Given the description of an element on the screen output the (x, y) to click on. 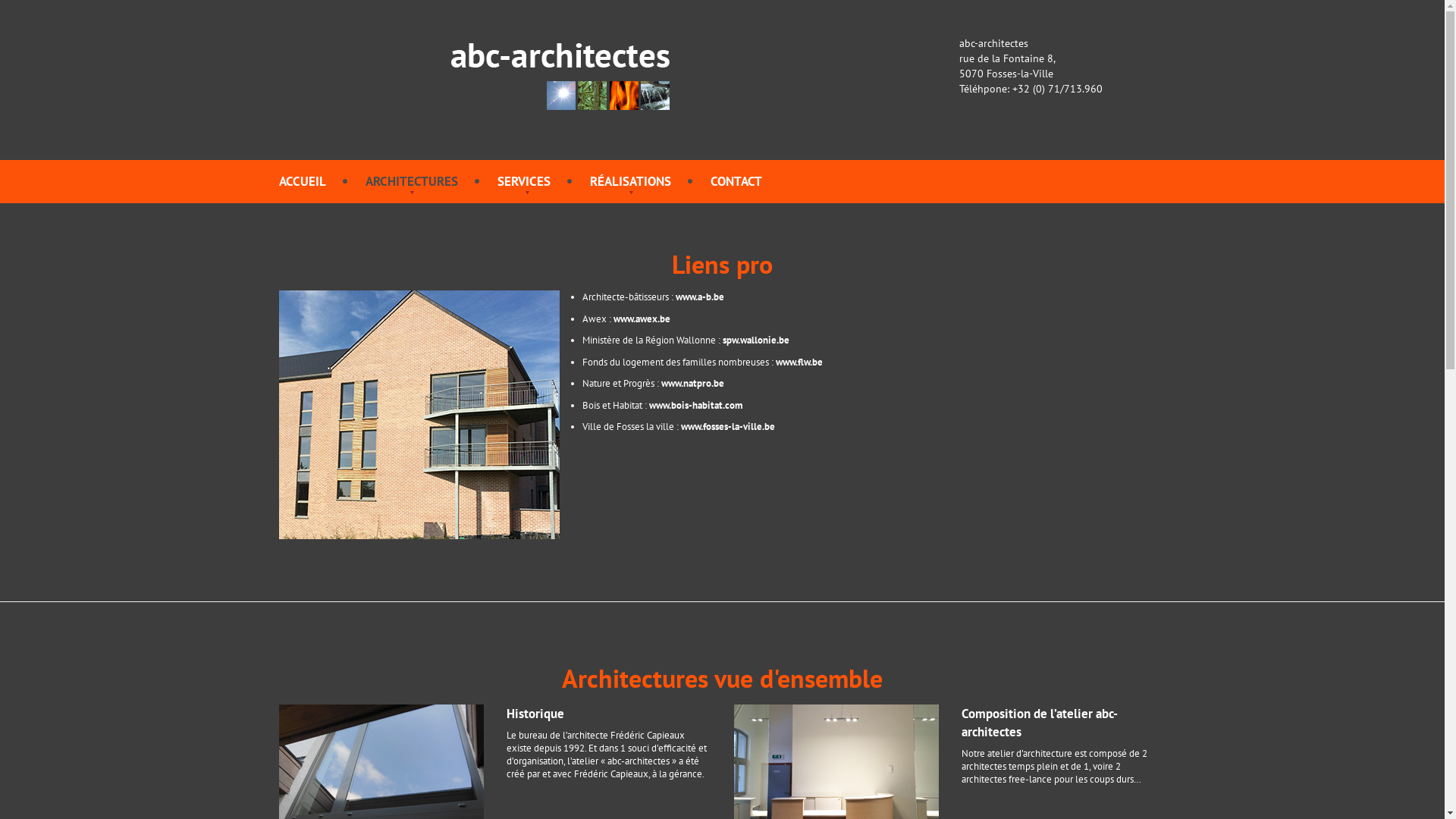
SERVICES Element type: text (523, 180)
www.a-b.be Element type: text (698, 300)
www.bois-habitat.com Element type: text (695, 408)
ARCHITECTURES Element type: text (411, 180)
www.flw.be Element type: text (798, 365)
CONTACT Element type: text (735, 180)
spw.wallonie.be Element type: text (754, 343)
www.awex.be Element type: text (640, 322)
ACCUEIL Element type: text (302, 180)
www.fosses-la-ville.be Element type: text (727, 430)
www.natpro.be Element type: text (692, 386)
